Given the description of an element on the screen output the (x, y) to click on. 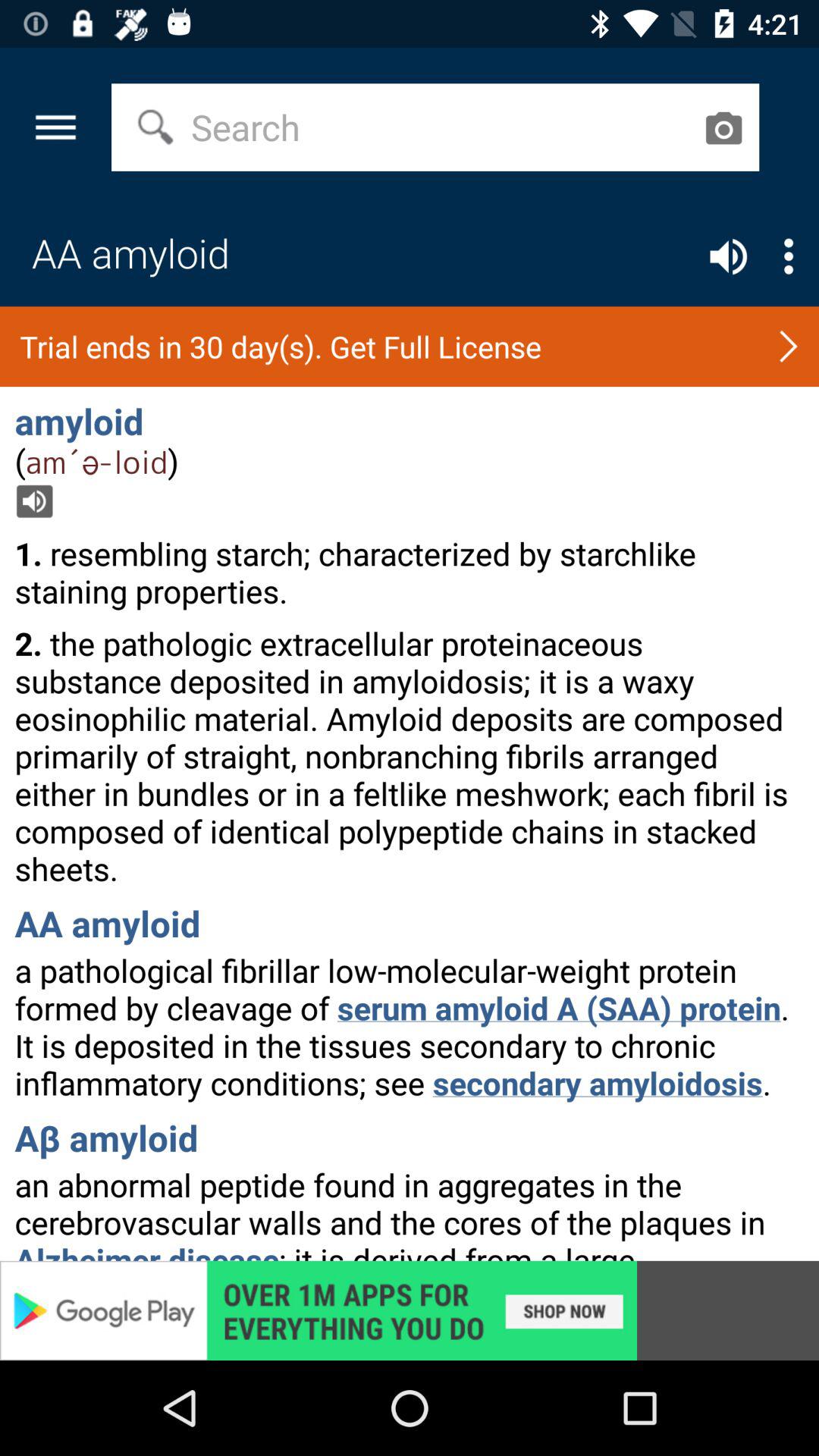
search box (723, 127)
